Given the description of an element on the screen output the (x, y) to click on. 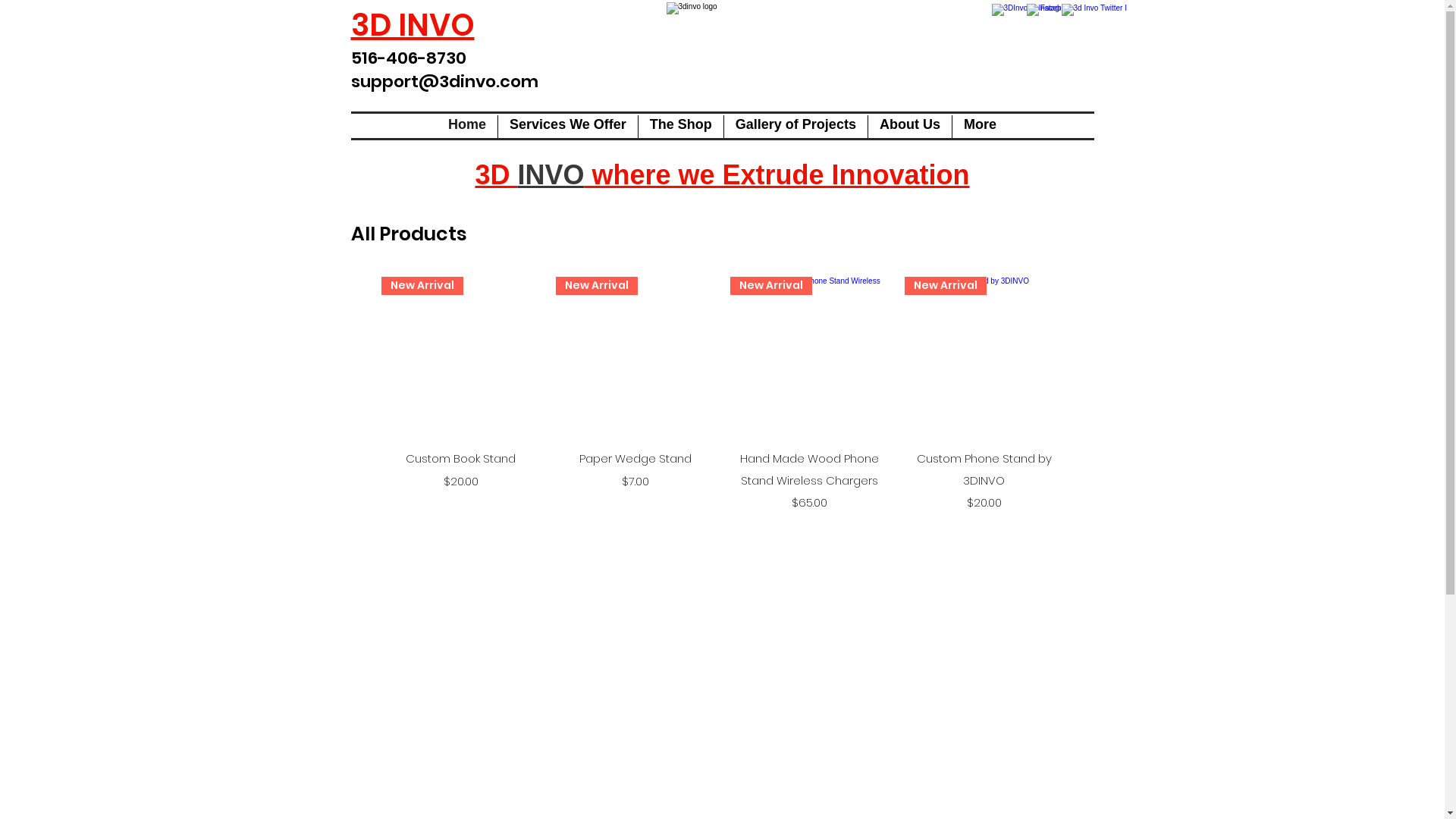
The Shop Element type: text (680, 126)
Custom Book Stand
Price
$20.00 Element type: text (459, 479)
Services We Offer Element type: text (567, 126)
Hand Made Wood Phone Stand Wireless Chargers
Price
$65.00 Element type: text (808, 479)
516-406-8730 Element type: text (407, 57)
Gallery of Projects Element type: text (795, 126)
New Arrival Element type: text (808, 356)
support@3dinvo.com Element type: text (443, 81)
Home Element type: text (466, 126)
New Arrival Element type: text (983, 356)
About Us Element type: text (909, 126)
Custom Phone Stand by 3DINVO
Price
$20.00 Element type: text (983, 479)
New Arrival Element type: text (459, 356)
New Arrival Element type: text (634, 356)
3D INVO Element type: text (411, 24)
Paper Wedge Stand
Price
$7.00 Element type: text (634, 479)
